Given the description of an element on the screen output the (x, y) to click on. 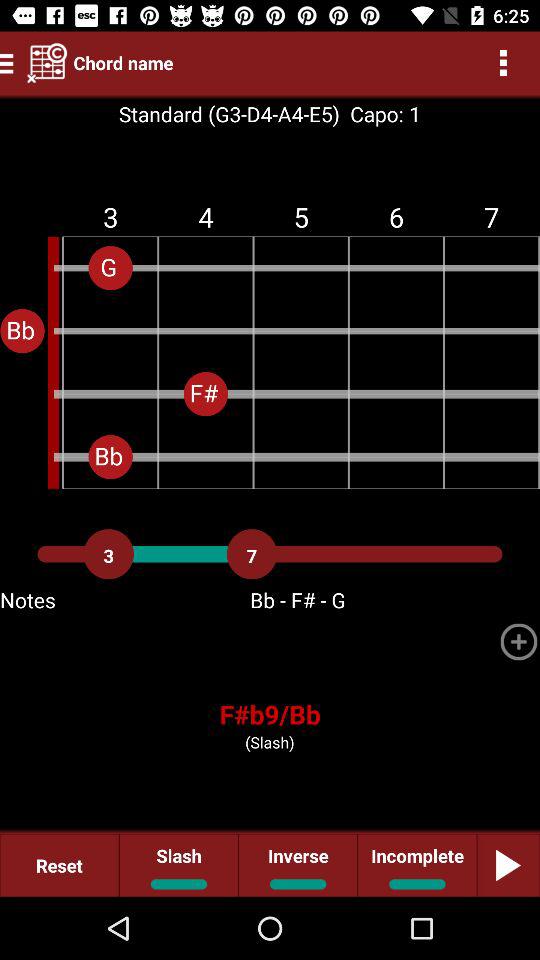
open the icon above (slash) (270, 713)
